Given the description of an element on the screen output the (x, y) to click on. 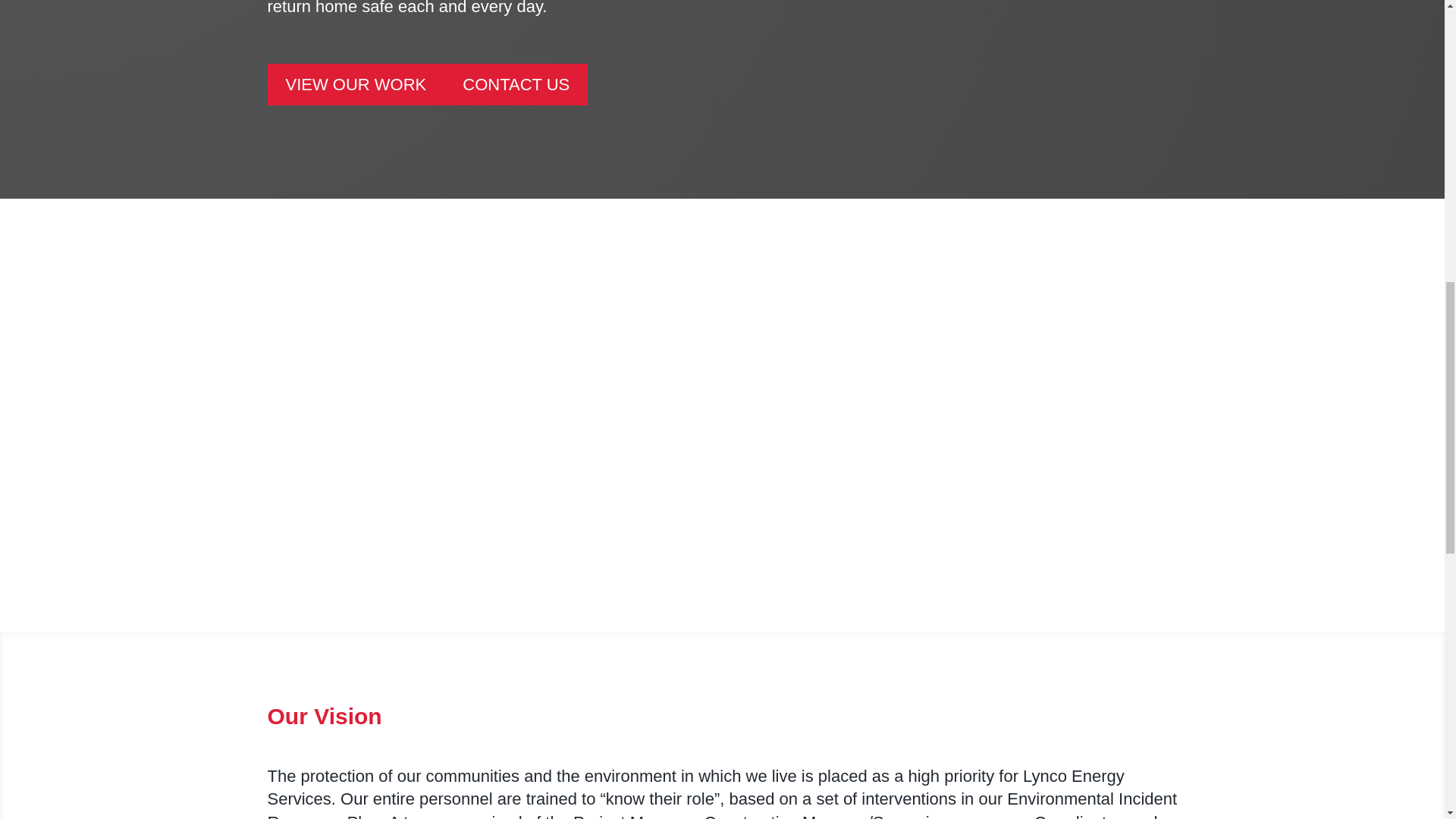
CONTACT US (516, 84)
VIEW OUR WORK (355, 84)
